Given the description of an element on the screen output the (x, y) to click on. 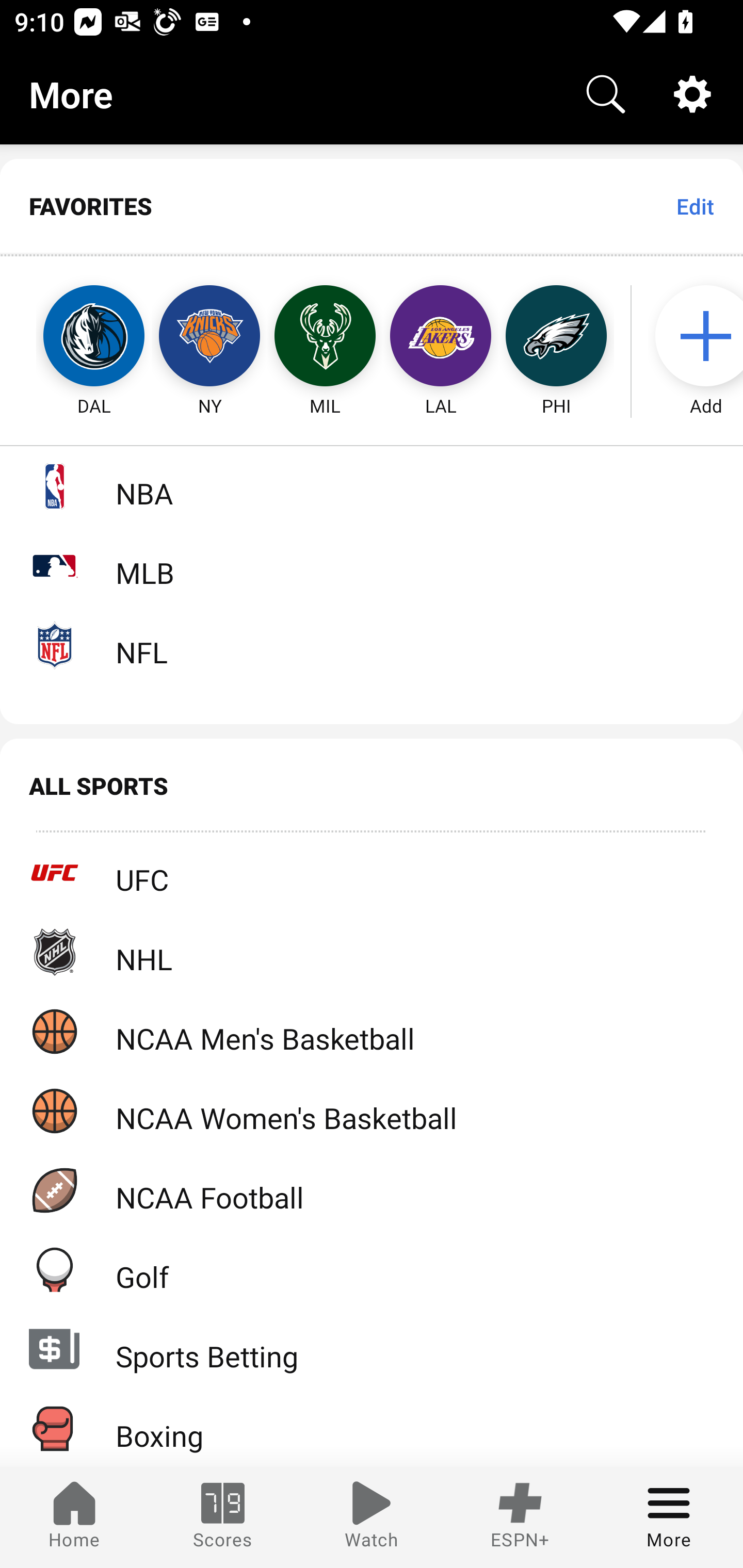
Search (605, 93)
Settings (692, 93)
Edit (695, 205)
DAL Dallas Mavericks (75, 336)
NY New York Knicks (209, 336)
MIL Milwaukee Bucks (324, 336)
LAL Los Angeles Lakers (440, 336)
PHI Philadelphia Eagles (555, 336)
 Add (695, 336)
NBA (371, 485)
MLB (371, 565)
NFL (371, 645)
UFC (371, 872)
NHL (371, 951)
NCAA Men's Basketball (371, 1030)
NCAA Women's Basketball (371, 1110)
NCAA Football (371, 1189)
Golf (371, 1269)
Sports Betting (371, 1349)
Boxing (371, 1428)
Home (74, 1517)
Scores (222, 1517)
Watch (371, 1517)
ESPN+ (519, 1517)
